Given the description of an element on the screen output the (x, y) to click on. 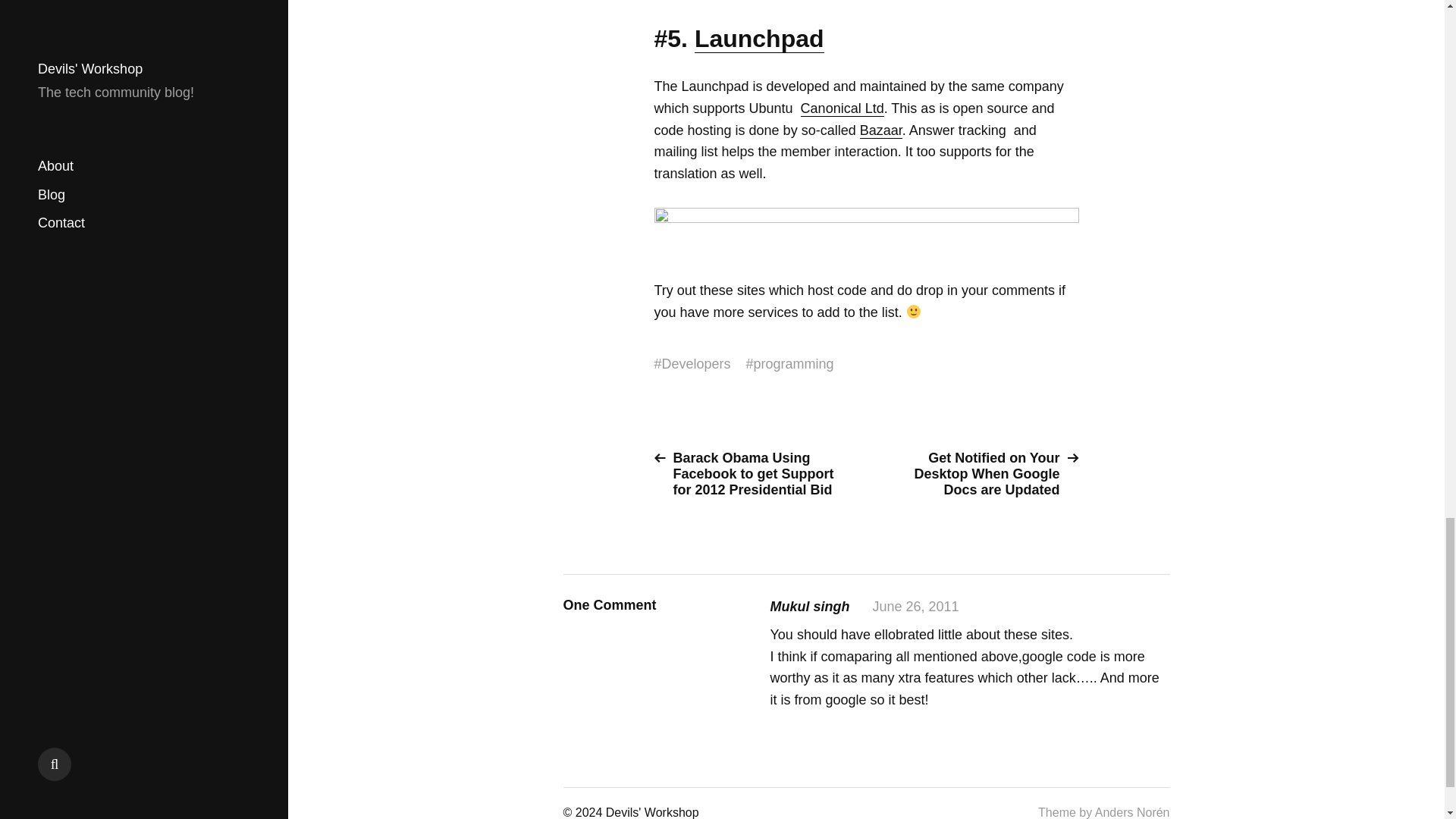
Canonical Ltd (841, 108)
June 26, 2011 at 10:52 am (915, 606)
launchpad (865, 232)
Developers (696, 364)
Canonical Ltd (841, 108)
Bazaar (881, 130)
June 26, 2011 (915, 606)
Get Notified on Your Desktop When Google Docs are Updated (977, 473)
programming (794, 364)
